Given the description of an element on the screen output the (x, y) to click on. 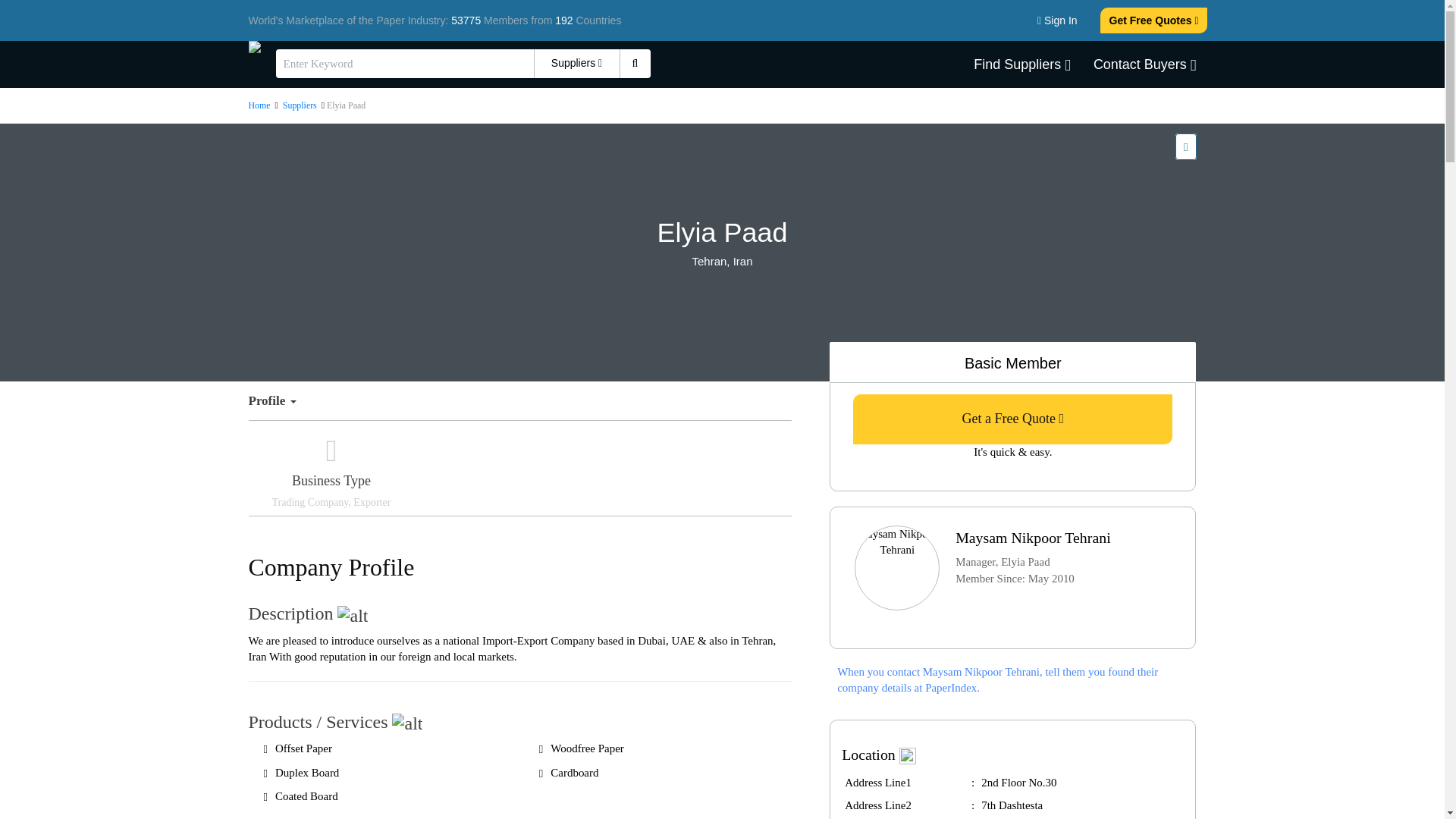
Home (260, 104)
Suppliers (577, 63)
Get Free Quotes (1154, 20)
Suppliers (299, 104)
Profile (277, 401)
Contact Buyers (1144, 63)
Find Suppliers (1021, 63)
Elyia Paad (722, 232)
 Sign In (1056, 20)
